Given the description of an element on the screen output the (x, y) to click on. 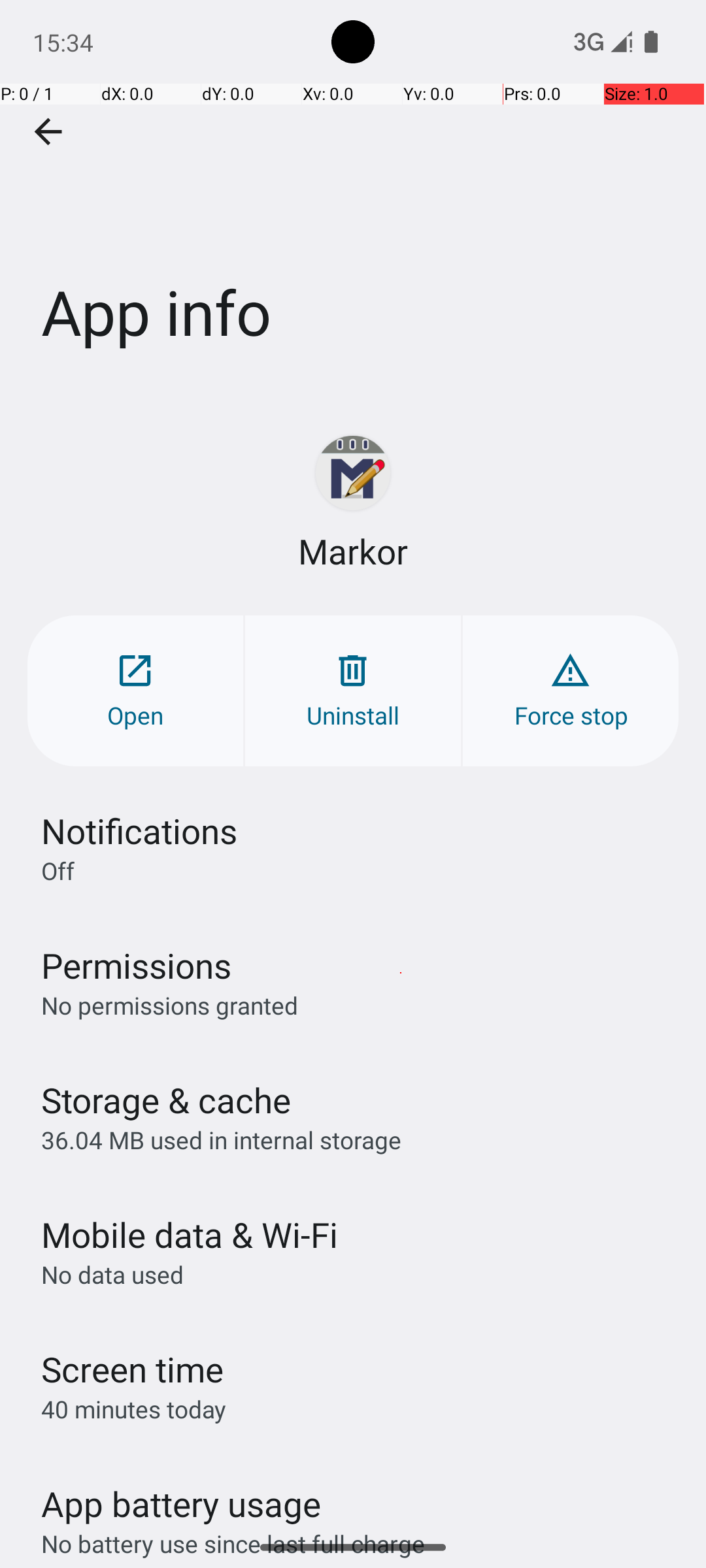
Uninstall Element type: android.widget.Button (352, 690)
No permissions granted Element type: android.widget.TextView (169, 1004)
36.04 MB used in internal storage Element type: android.widget.TextView (221, 1139)
No data used Element type: android.widget.TextView (112, 1273)
40 minutes today Element type: android.widget.TextView (133, 1408)
App battery usage Element type: android.widget.TextView (181, 1503)
